Given the description of an element on the screen output the (x, y) to click on. 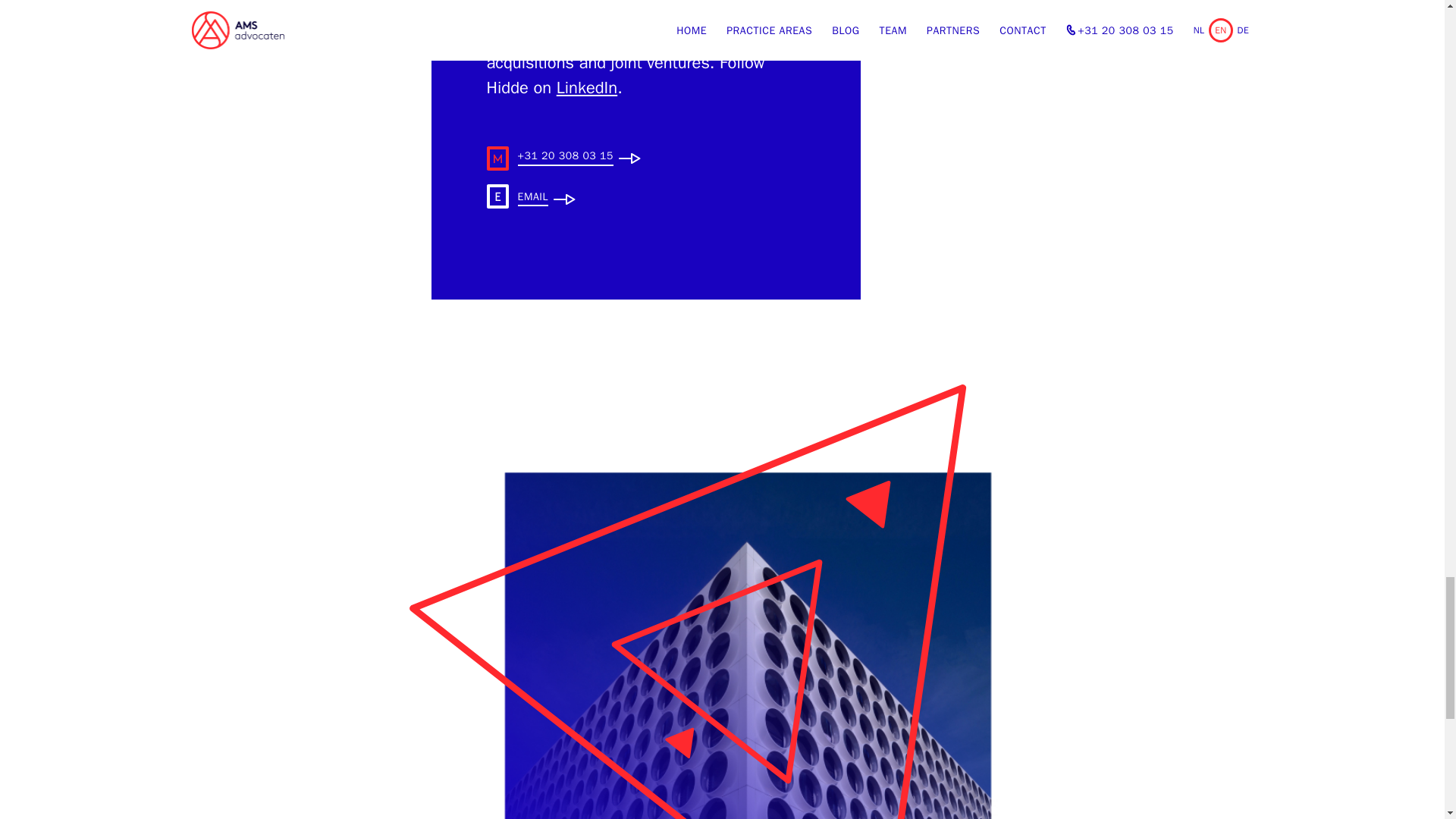
LinkedIn (586, 87)
EMAIL (532, 198)
